Given the description of an element on the screen output the (x, y) to click on. 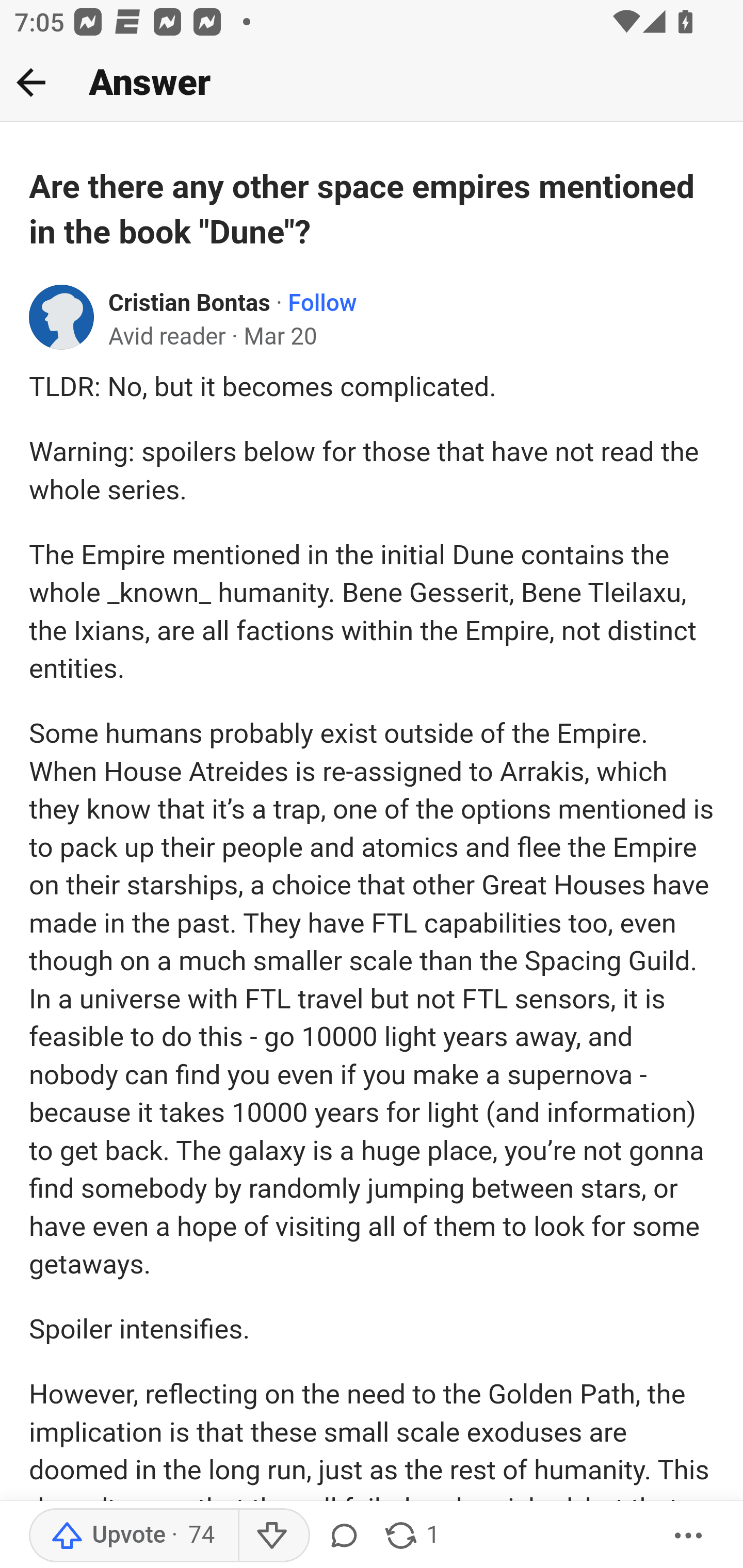
Back Answer (371, 82)
Back (30, 82)
Profile photo for Cristian Bontas (61, 317)
Cristian Bontas (189, 303)
Follow (321, 303)
Mar 20 (280, 336)
Upvote (133, 1535)
Downvote (273, 1535)
Comment (343, 1535)
1 share (411, 1535)
More (688, 1535)
